Given the description of an element on the screen output the (x, y) to click on. 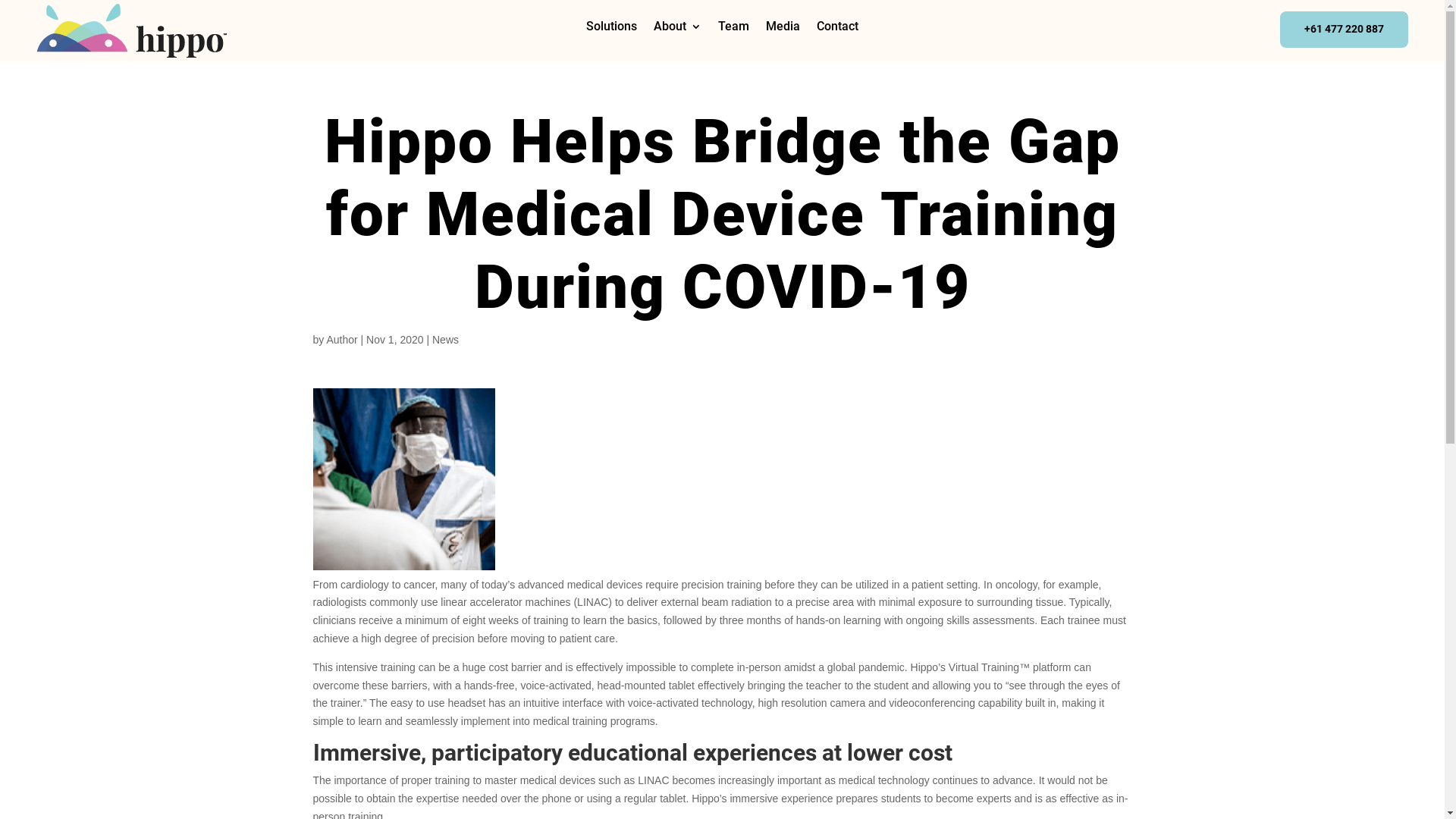
Solutions Element type: text (611, 29)
Media Element type: text (782, 29)
News Element type: text (445, 339)
Team Element type: text (733, 29)
Author Element type: text (341, 339)
About Element type: text (677, 29)
+61 477 220 887 Element type: text (1344, 29)
Contact Element type: text (837, 29)
